Given the description of an element on the screen output the (x, y) to click on. 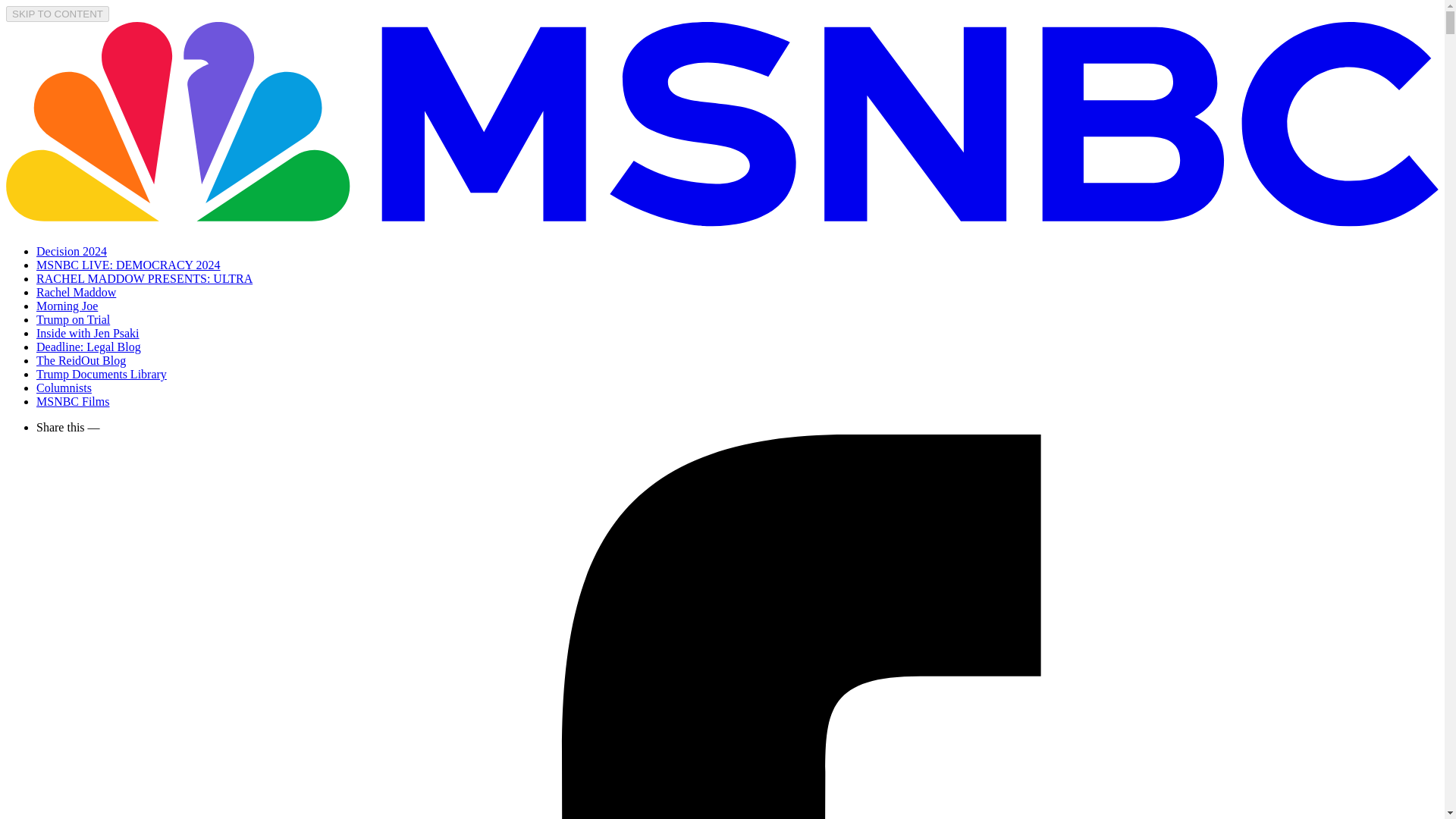
Deadline: Legal Blog (88, 346)
MSNBC Films (72, 400)
The ReidOut Blog (80, 359)
SKIP TO CONTENT (57, 13)
Trump on Trial (73, 318)
RACHEL MADDOW PRESENTS: ULTRA (143, 278)
Decision 2024 (71, 250)
Columnists (63, 387)
Rachel Maddow (76, 291)
Morning Joe (66, 305)
